Given the description of an element on the screen output the (x, y) to click on. 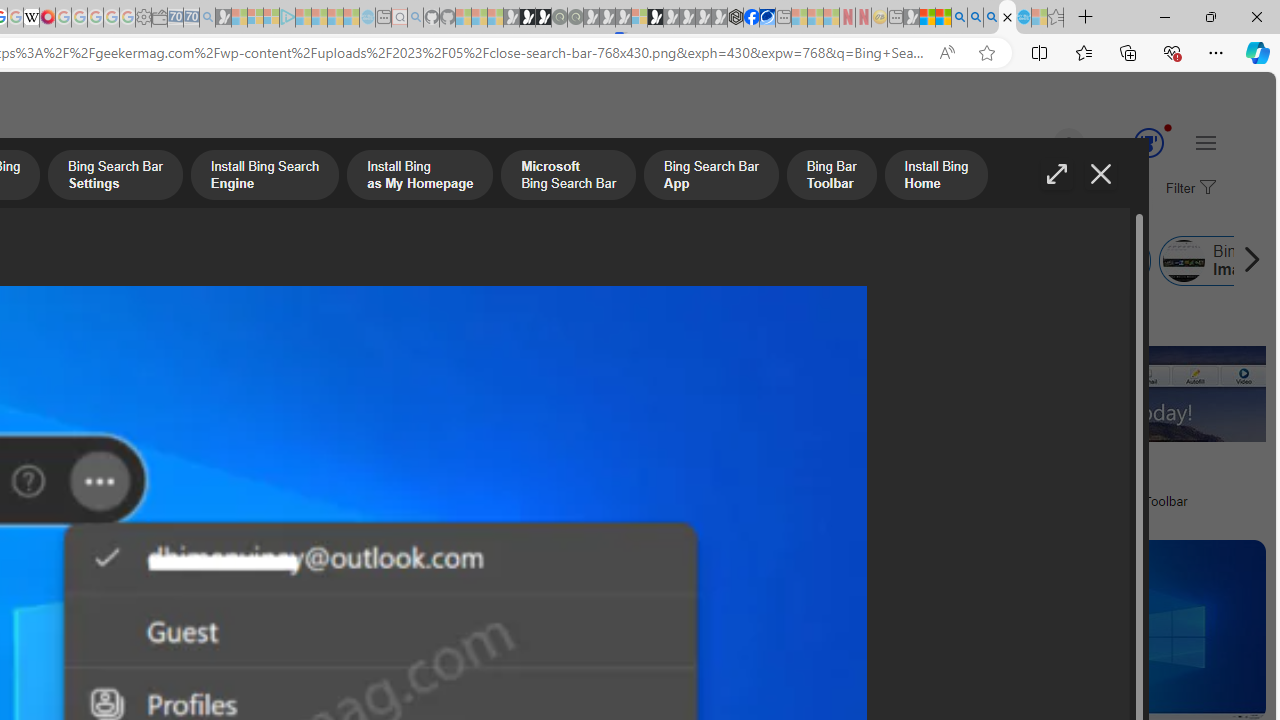
Full screen (1055, 173)
Microsoft Bing Search Bar (175, 260)
Bing Menu Bar (1028, 260)
Close image (1100, 173)
Download Bing Bar, the new Bing Toolbar (1069, 500)
Nordace | Facebook (751, 17)
